Given the description of an element on the screen output the (x, y) to click on. 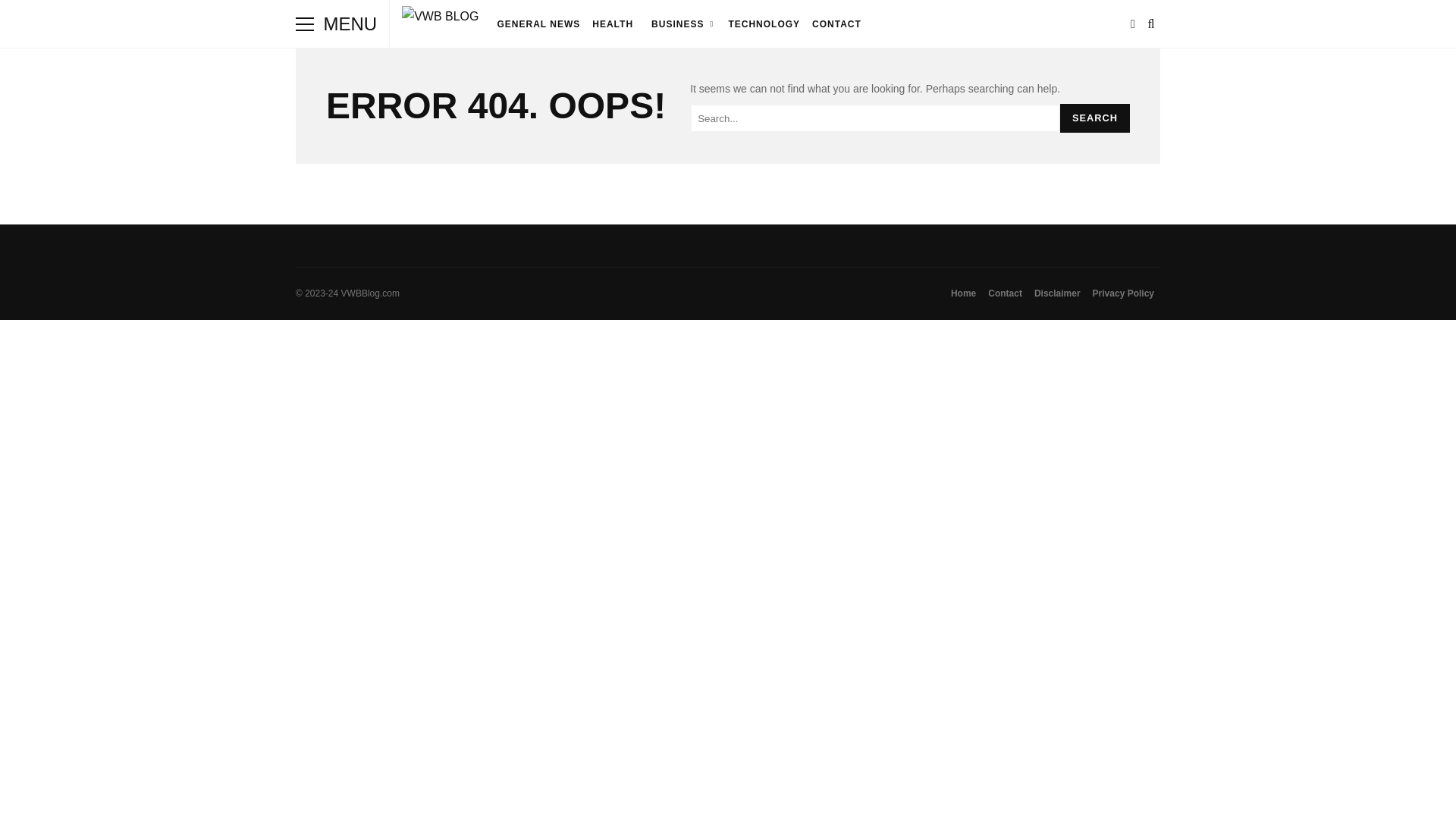
SEARCH (1094, 118)
GENERAL NEWS (538, 24)
BUSINESS (680, 24)
Home (962, 293)
HEALTH (612, 24)
TECHNOLOGY (764, 24)
Contact (1004, 293)
CONTACT (836, 24)
VWB Blog (440, 16)
